Given the description of an element on the screen output the (x, y) to click on. 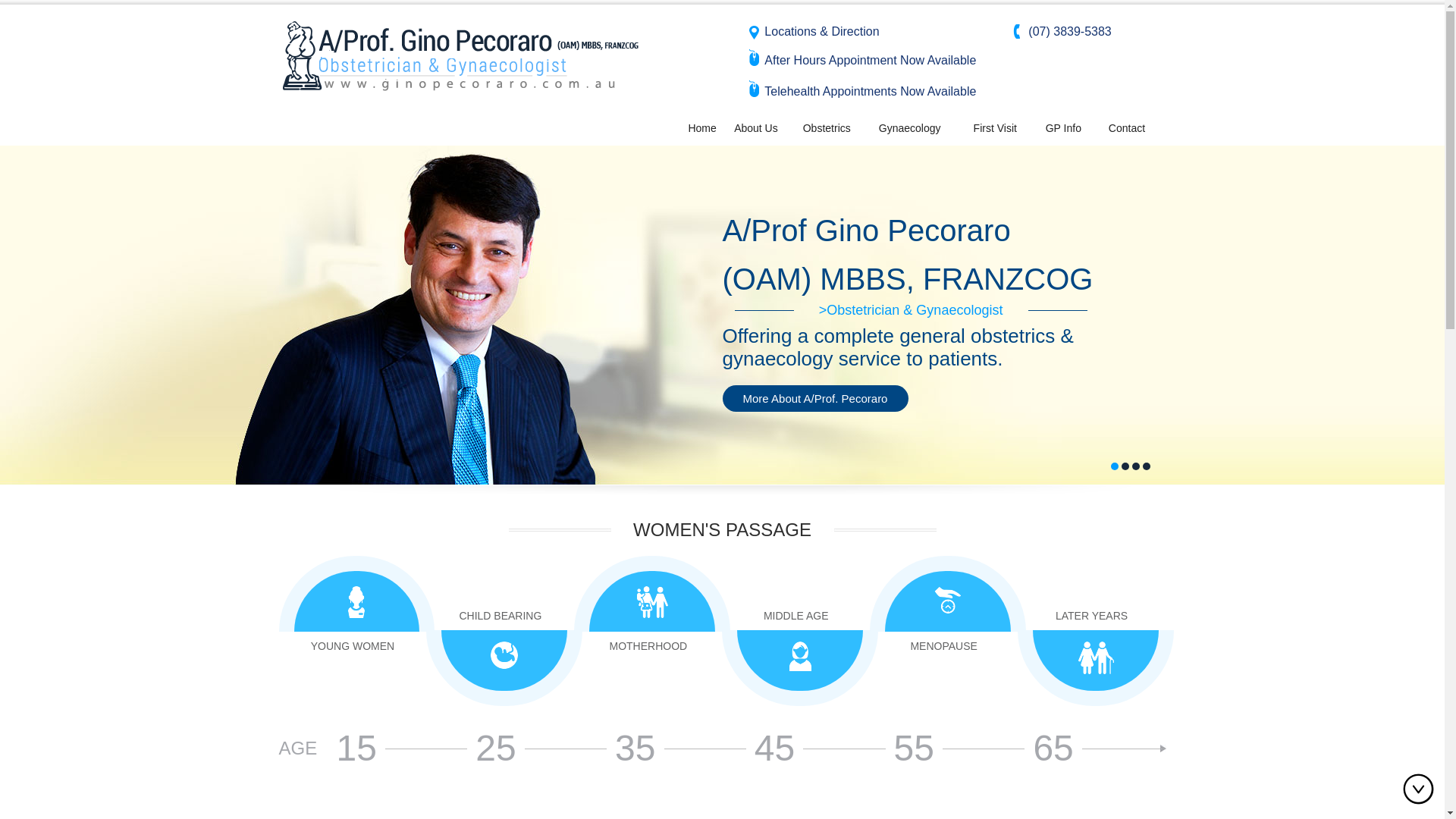
Contact Element type: text (1126, 127)
MIDDLE AGE Element type: text (795, 615)
MOTHERHOOD Element type: text (647, 645)
Locations & Direction Element type: text (821, 31)
Obstetrics Element type: text (826, 127)
GP Info Element type: text (1062, 127)
MENOPAUSE Element type: text (943, 645)
LATER YEARS Element type: text (1091, 615)
Obstetrics Element type: text (780, 349)
Gynaecology Element type: text (927, 349)
CHILD BEARING Element type: text (500, 615)
Home Element type: text (701, 127)
Infertility & IVF Element type: text (1073, 349)
Top Element type: text (1421, 788)
(07) 3839-5383 Element type: text (1069, 31)
First Visit Element type: text (994, 127)
Gynaecology Element type: text (909, 127)
About Us Element type: text (755, 127)
YOUNG WOMEN Element type: text (352, 645)
